Given the description of an element on the screen output the (x, y) to click on. 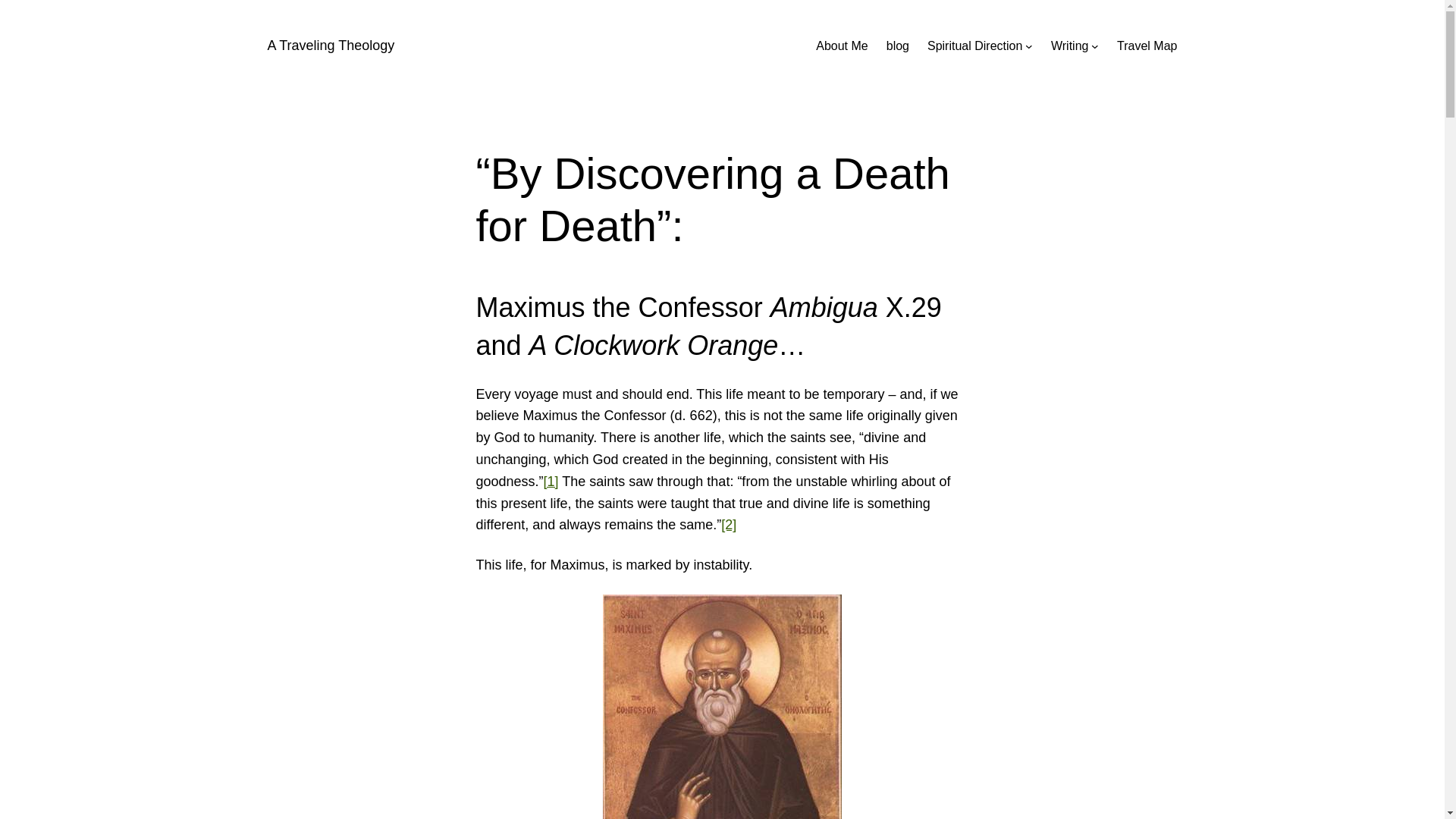
About Me (841, 46)
A Traveling Theology (330, 45)
Writing (1070, 46)
Travel Map (1146, 46)
Spiritual Direction (974, 46)
blog (897, 46)
